Given the description of an element on the screen output the (x, y) to click on. 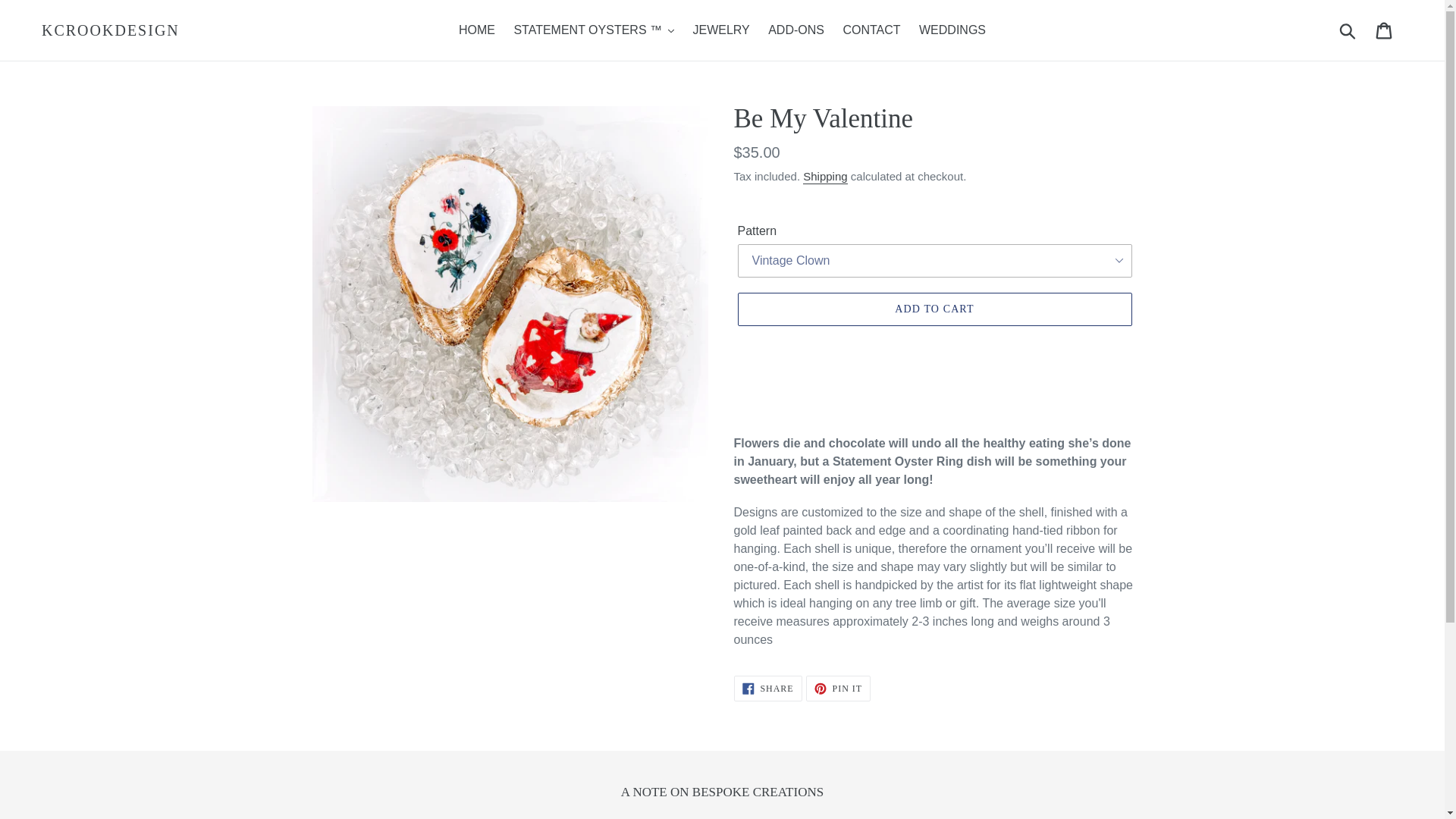
HOME (476, 29)
Cart (1385, 29)
CONTACT (870, 29)
WEDDINGS (951, 29)
JEWELRY (720, 29)
Submit (1348, 29)
ADD-ONS (795, 29)
KCROOKDESIGN (110, 30)
